Given the description of an element on the screen output the (x, y) to click on. 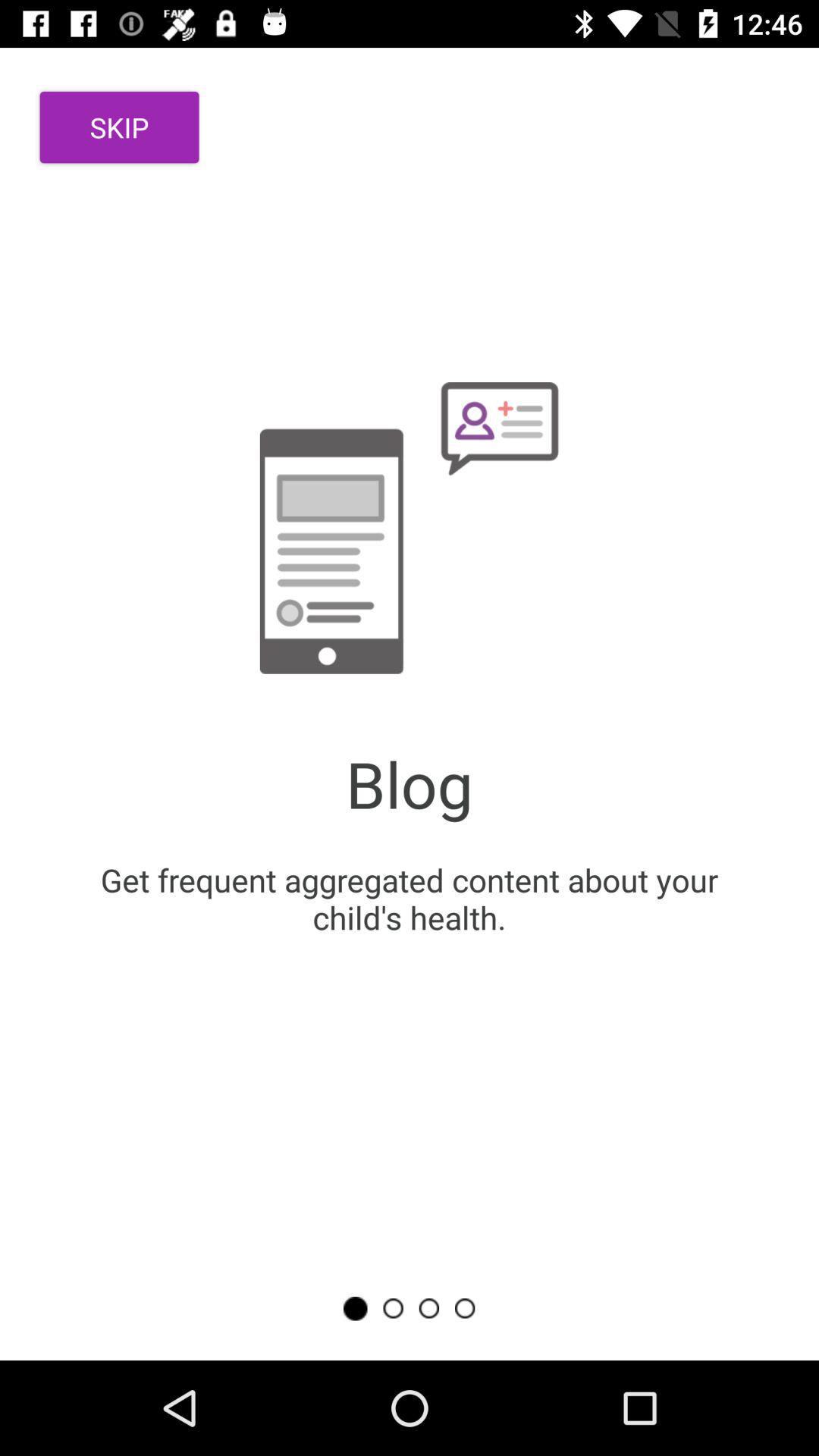
swipe to skip item (119, 127)
